Given the description of an element on the screen output the (x, y) to click on. 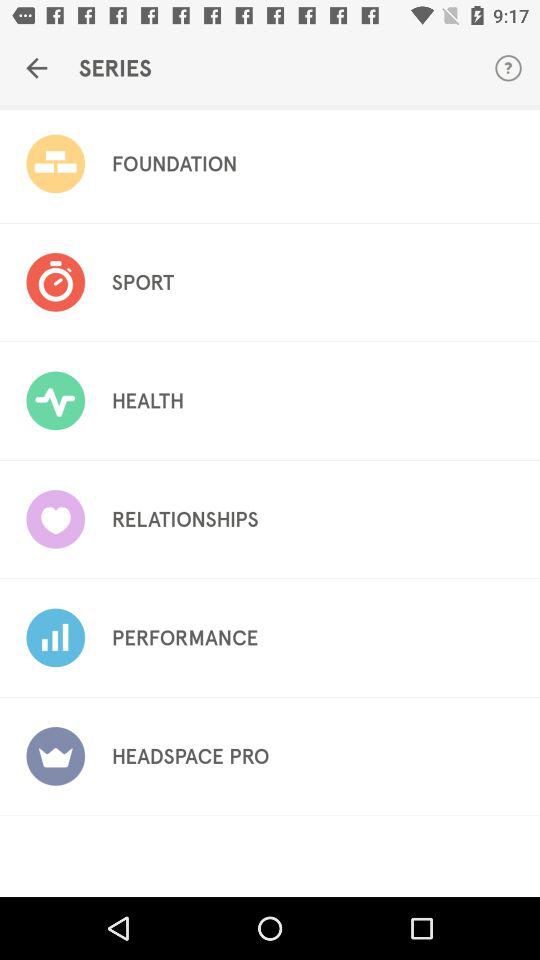
select headspace pro icon (190, 756)
